Given the description of an element on the screen output the (x, y) to click on. 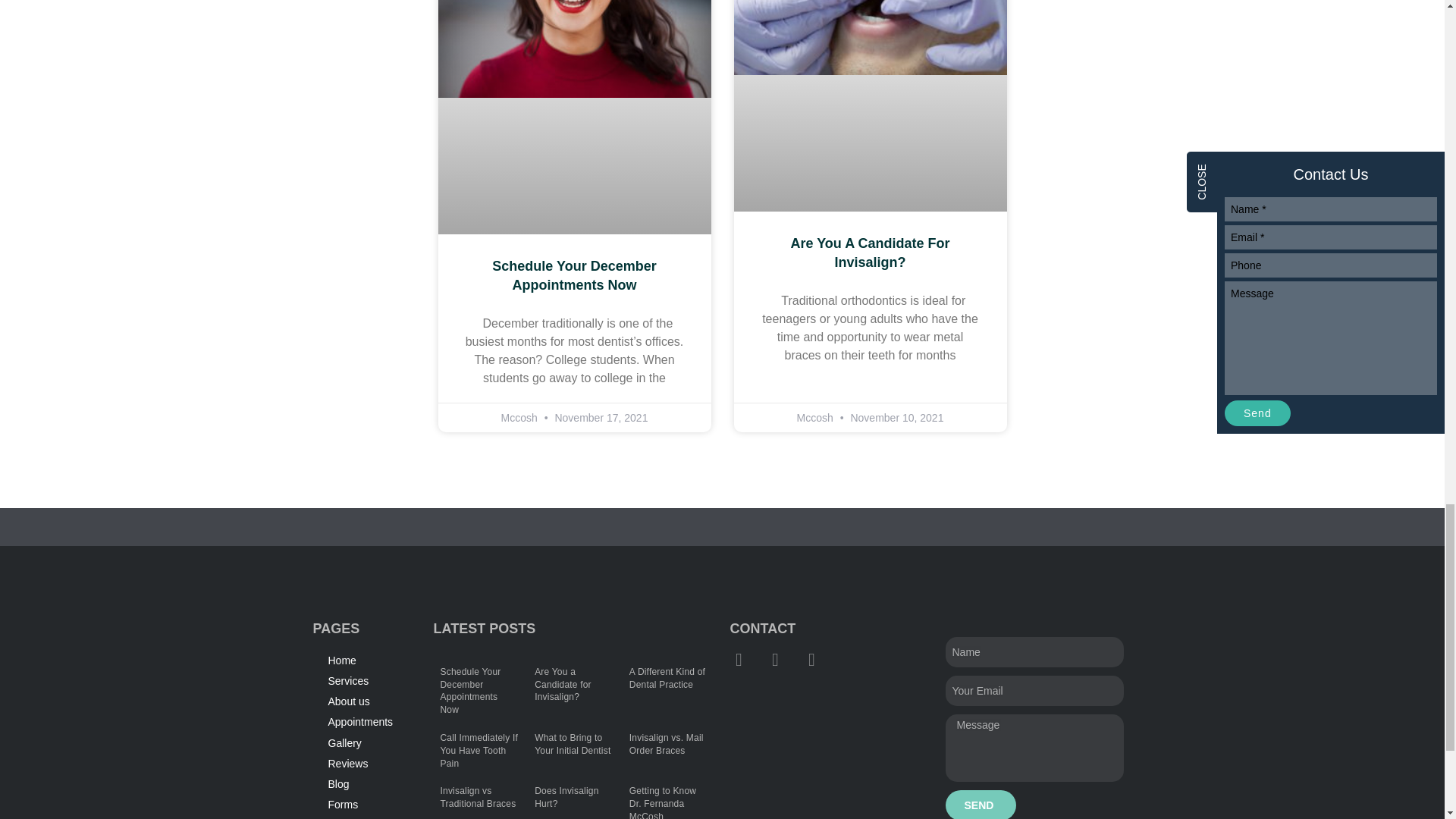
ava-4.jpg (574, 49)
9V9A2726 (870, 38)
